Given the description of an element on the screen output the (x, y) to click on. 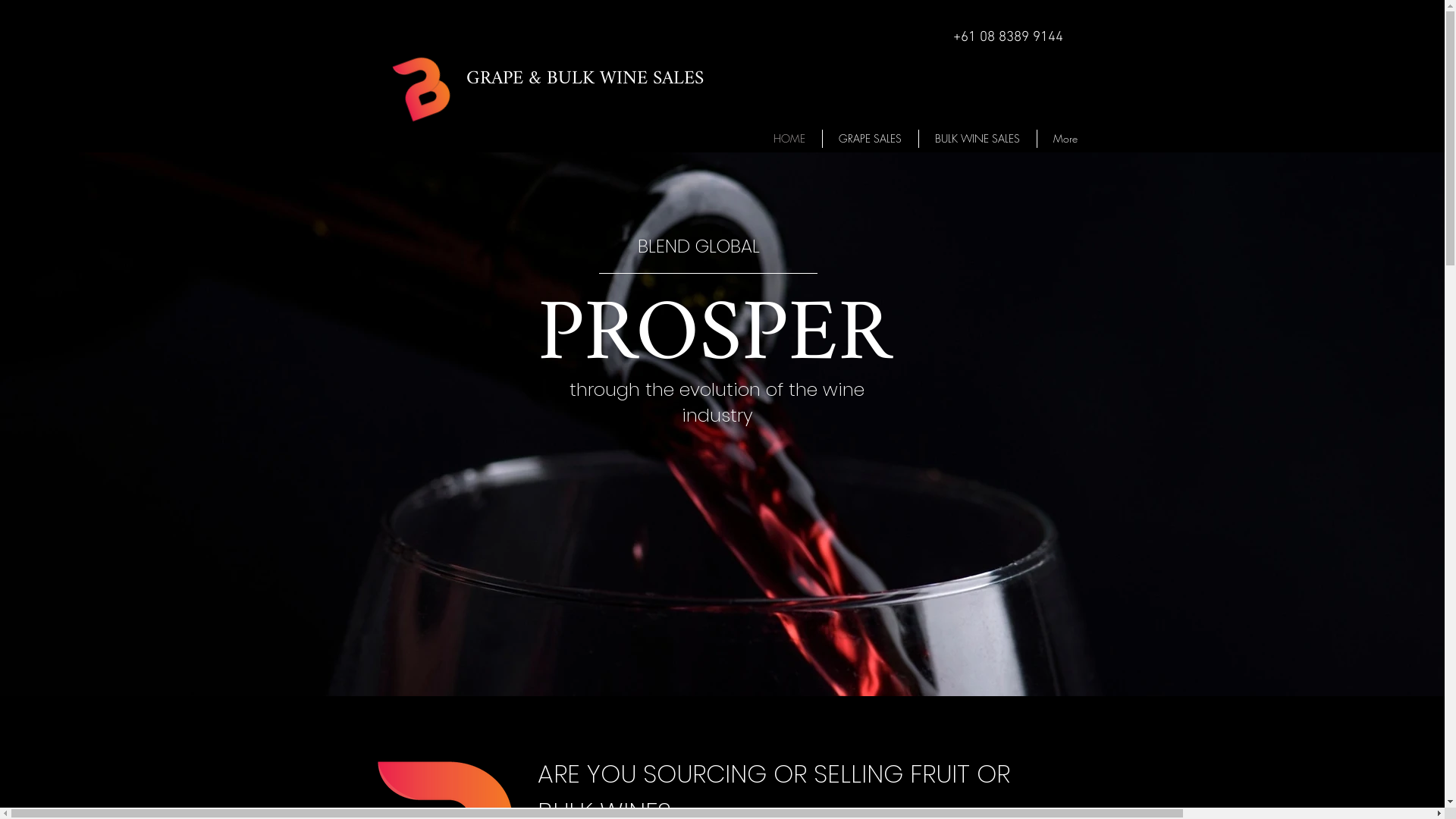
BULK WINE SALES Element type: text (977, 138)
HOME Element type: text (788, 138)
+61 08 8389 9144 Element type: text (1007, 37)
GRAPE SALES Element type: text (869, 138)
